Given the description of an element on the screen output the (x, y) to click on. 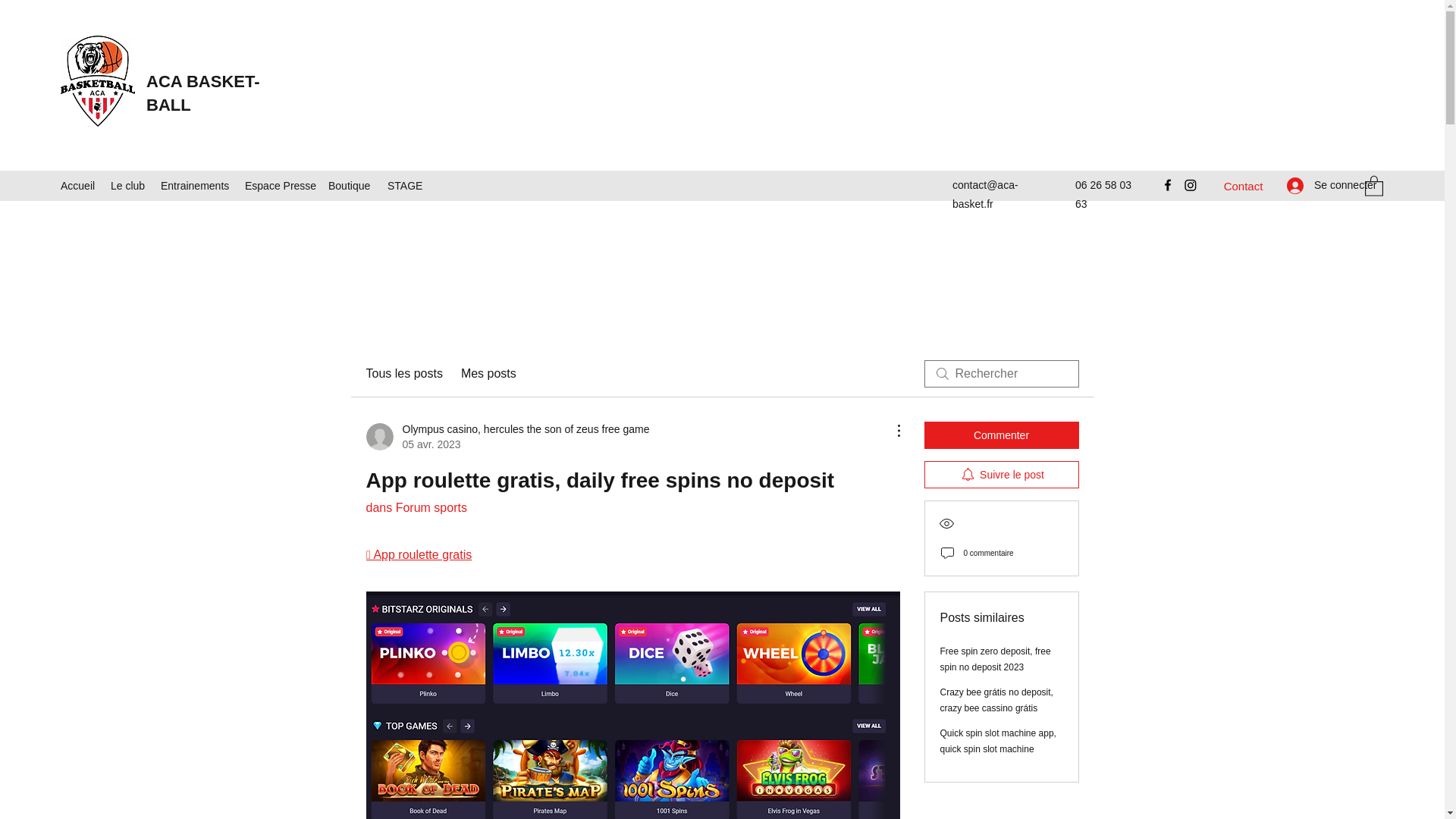
ACA BASKET-BALL (203, 93)
Free spin zero deposit, free spin no deposit 2023 (995, 659)
STAGE (404, 185)
Mes posts (488, 373)
dans Forum sports (415, 507)
Se connecter (1317, 185)
Suivre le post (1000, 474)
Accueil (77, 185)
Espace Presse (278, 185)
Tous les posts (403, 373)
